Given the description of an element on the screen output the (x, y) to click on. 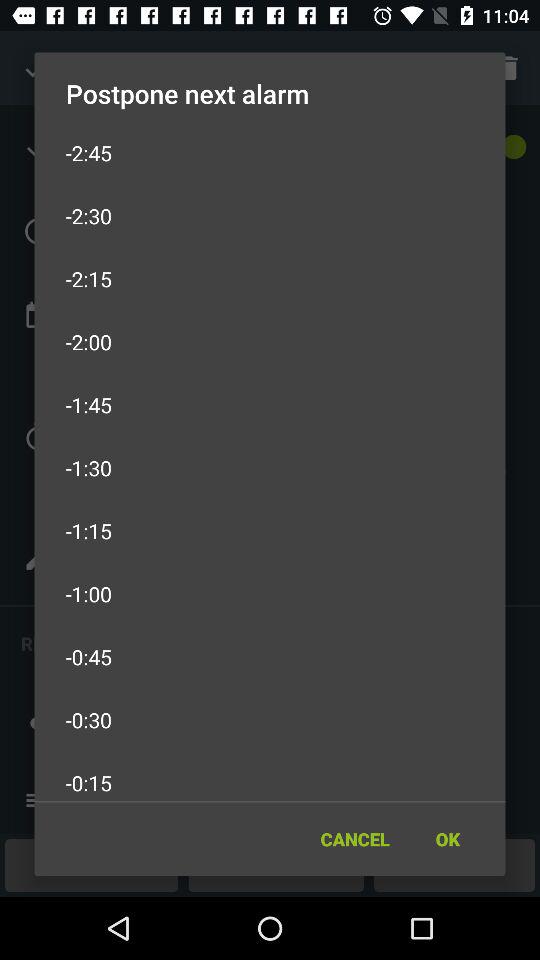
tap the cancel item (354, 838)
